Given the description of an element on the screen output the (x, y) to click on. 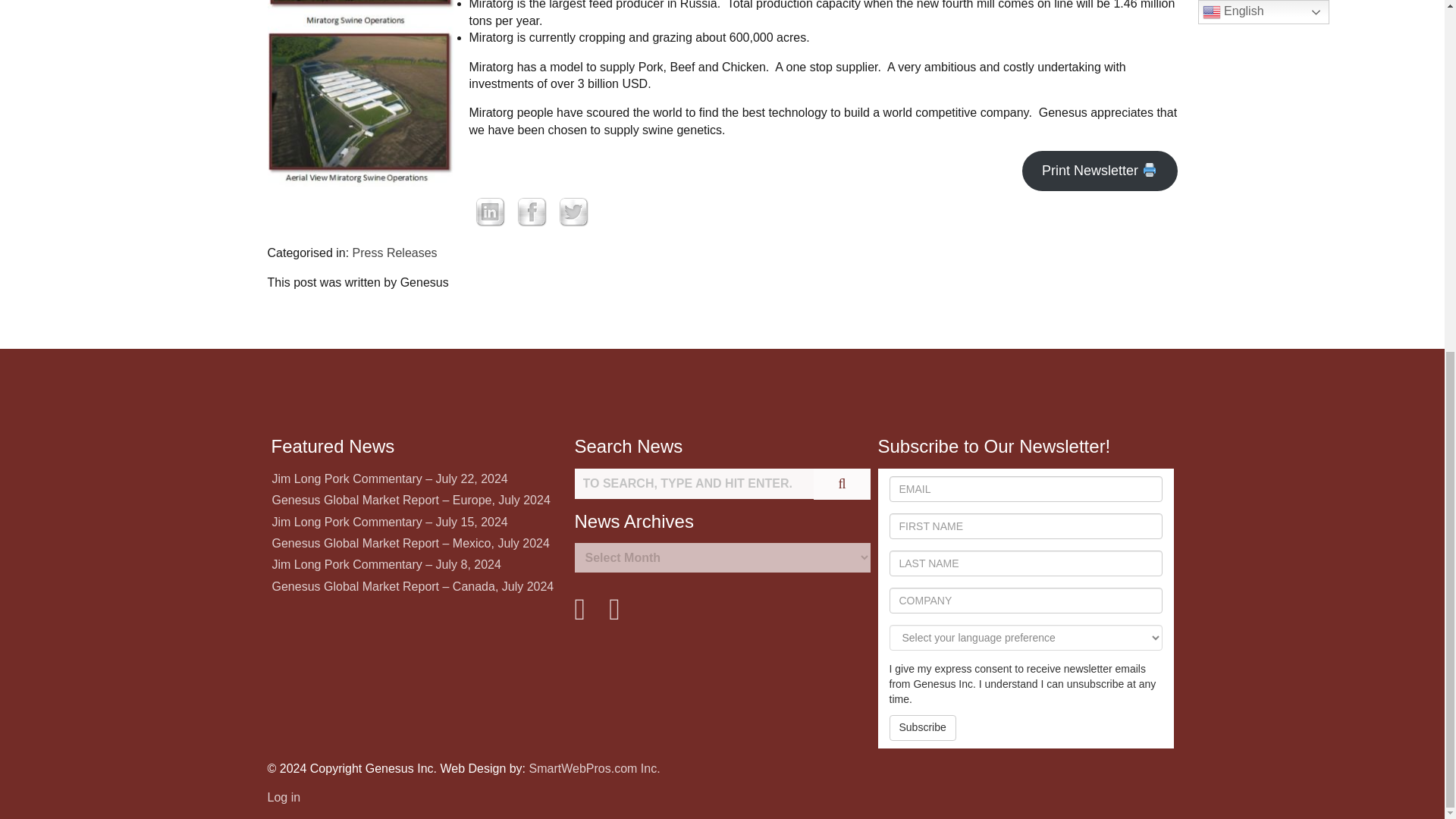
SmartWebPros.com Inc. (595, 768)
Facebook (532, 211)
Log in (282, 797)
LinkedIn (489, 211)
Subscribe (921, 727)
Press Releases (395, 252)
Twitter (572, 211)
Print Newsletter (1099, 170)
